Given the description of an element on the screen output the (x, y) to click on. 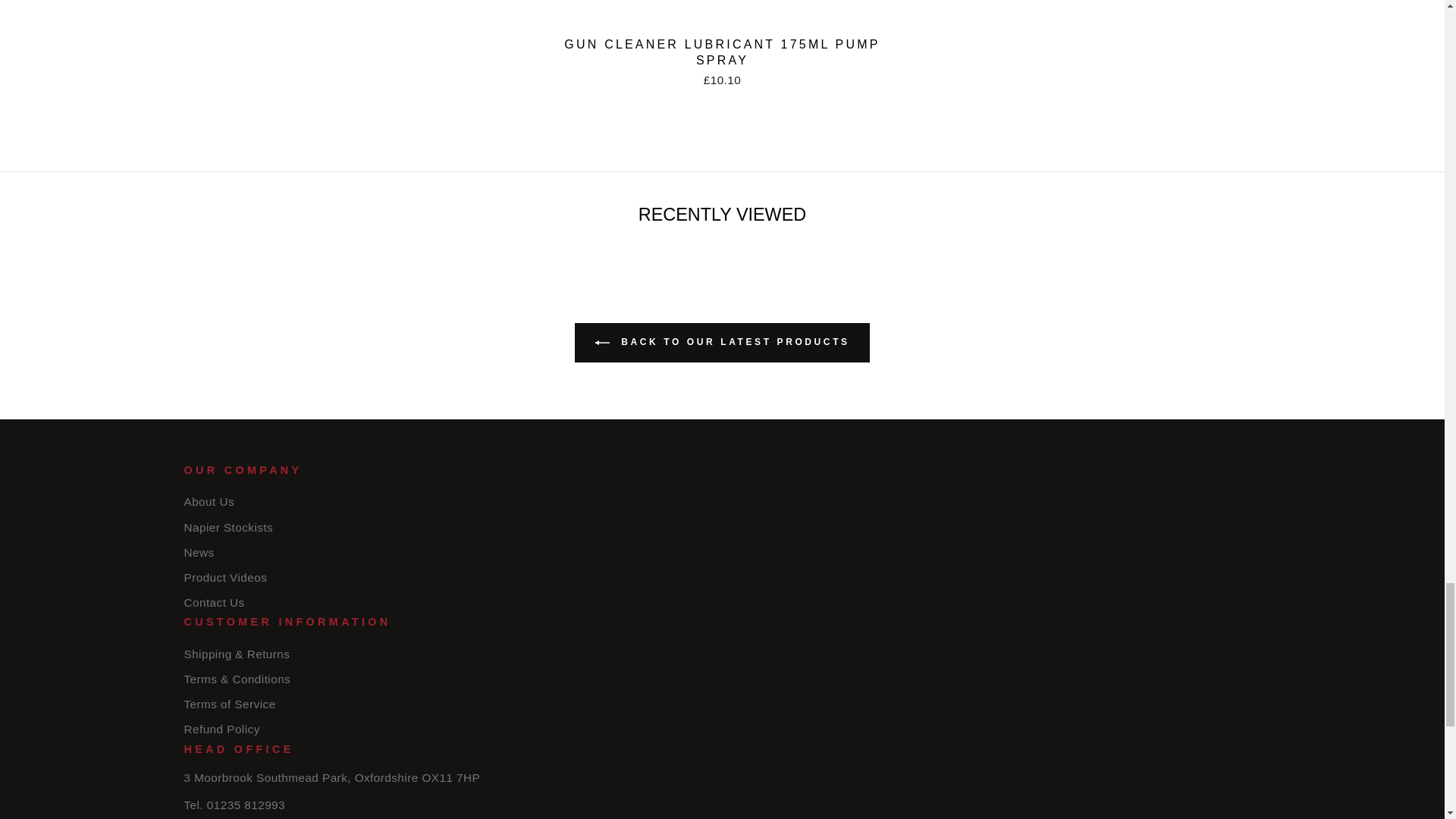
ICON-LEFT-ARROW (602, 342)
